Given the description of an element on the screen output the (x, y) to click on. 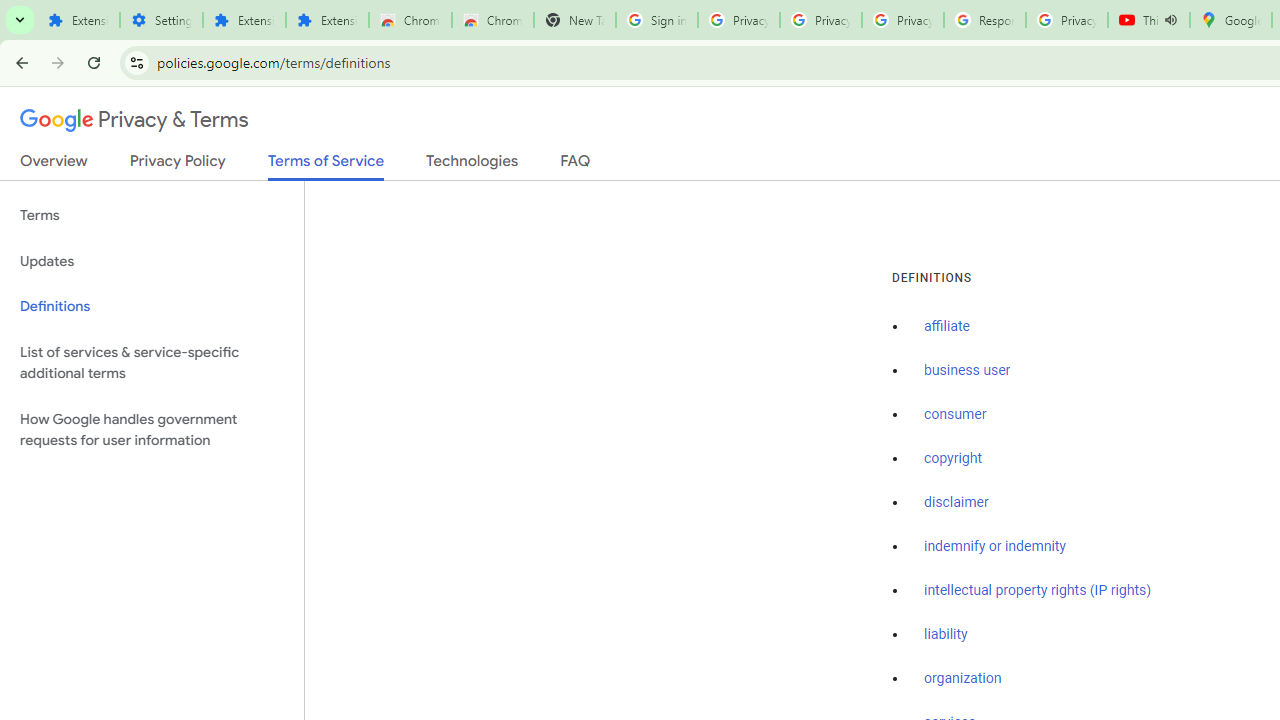
business user (967, 371)
How Google handles government requests for user information (152, 429)
disclaimer (956, 502)
intellectual property rights (IP rights) (1038, 590)
Extensions (244, 20)
consumer (955, 415)
Chrome Web Store (409, 20)
